Given the description of an element on the screen output the (x, y) to click on. 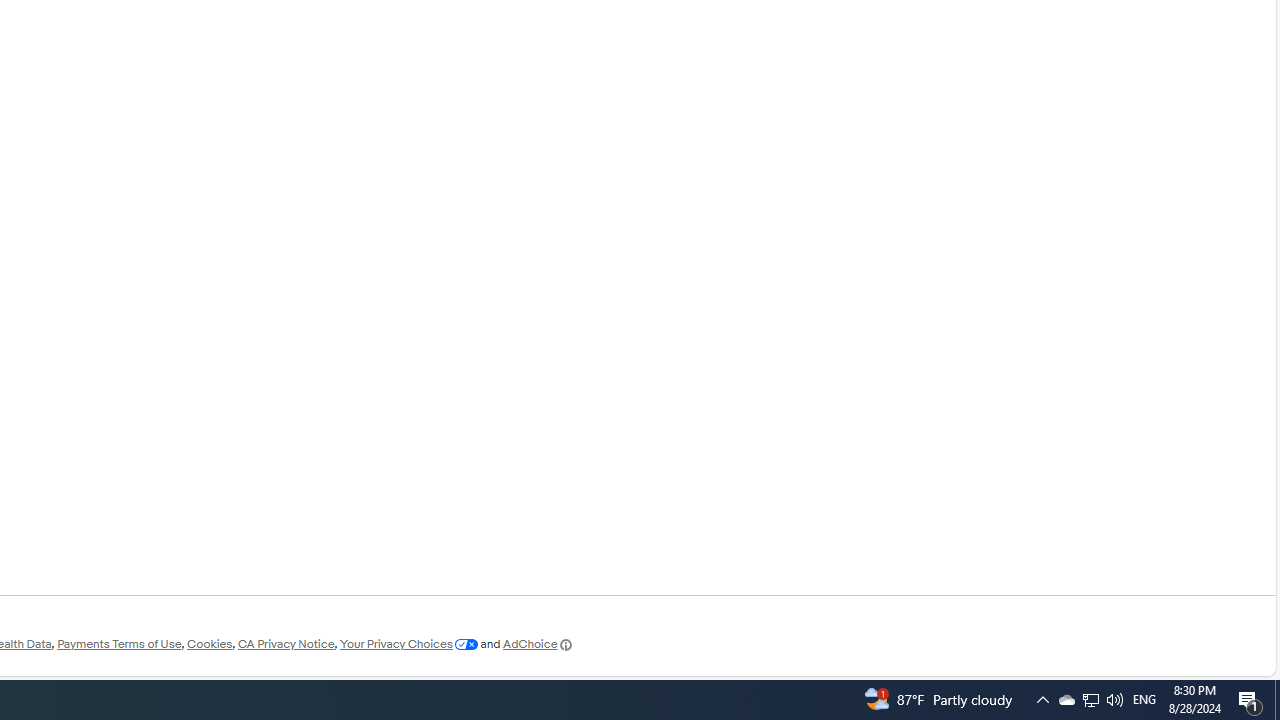
Payments Terms of Use (119, 644)
AdChoice (538, 644)
Your Privacy Choices (408, 644)
Cookies (209, 644)
CA Privacy Notice (285, 644)
